Given the description of an element on the screen output the (x, y) to click on. 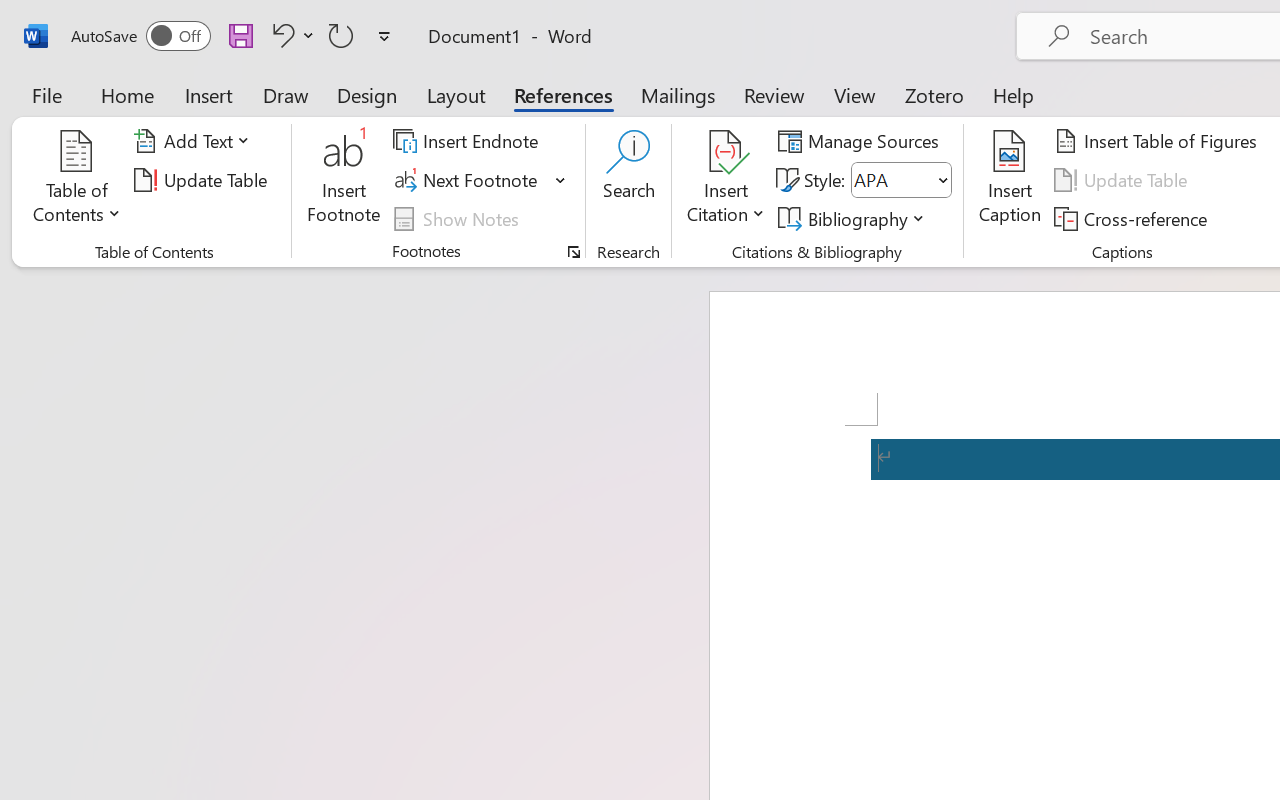
Search (628, 179)
Undo Apply Quick Style Set (290, 35)
Insert Footnote (344, 179)
Style (901, 179)
Update Table... (204, 179)
Insert Endnote (468, 141)
Footnote and Endnote Dialog... (573, 252)
